Given the description of an element on the screen output the (x, y) to click on. 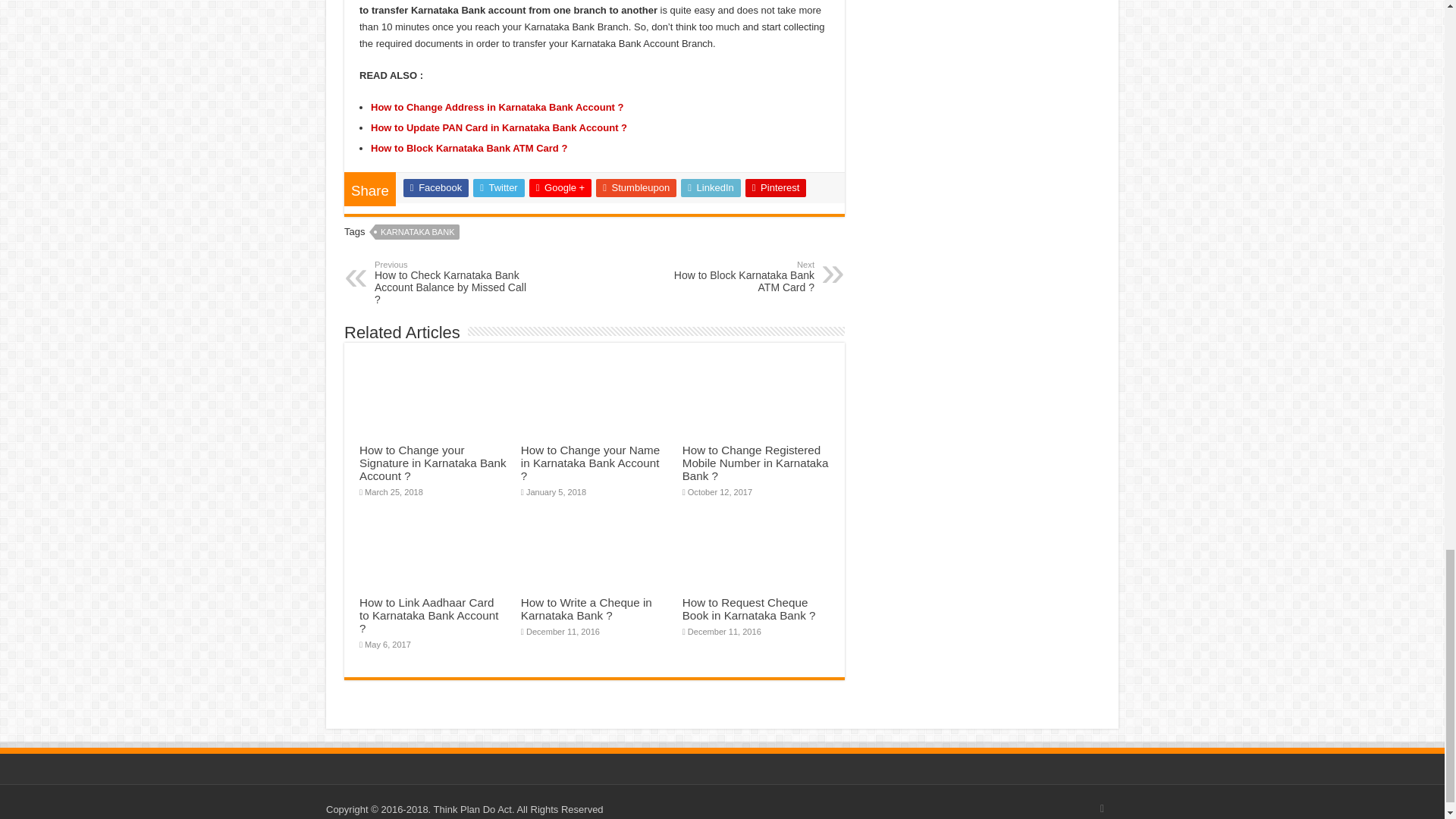
How to Block Karnataka Bank ATM Card ? (469, 147)
How to Change Address in Karnataka Bank Account ? (497, 107)
How to Update PAN Card in Karnataka Bank Account ? (499, 127)
Facebook (435, 188)
Stumbleupon (636, 188)
Twitter (498, 188)
